Given the description of an element on the screen output the (x, y) to click on. 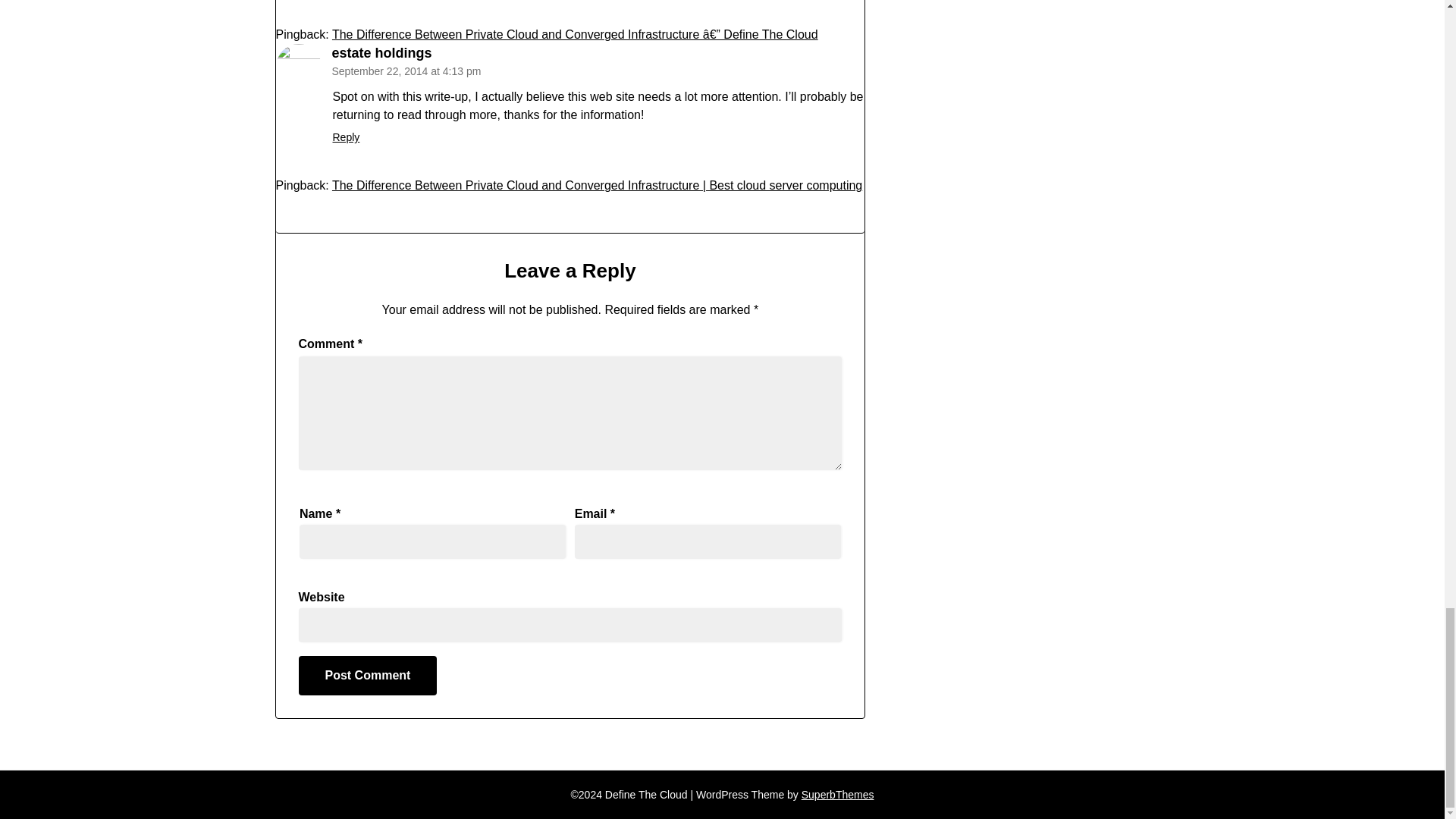
Reply (345, 137)
estate holdings (381, 52)
September 22, 2014 at 4:13 pm (406, 70)
Post Comment (368, 675)
